Given the description of an element on the screen output the (x, y) to click on. 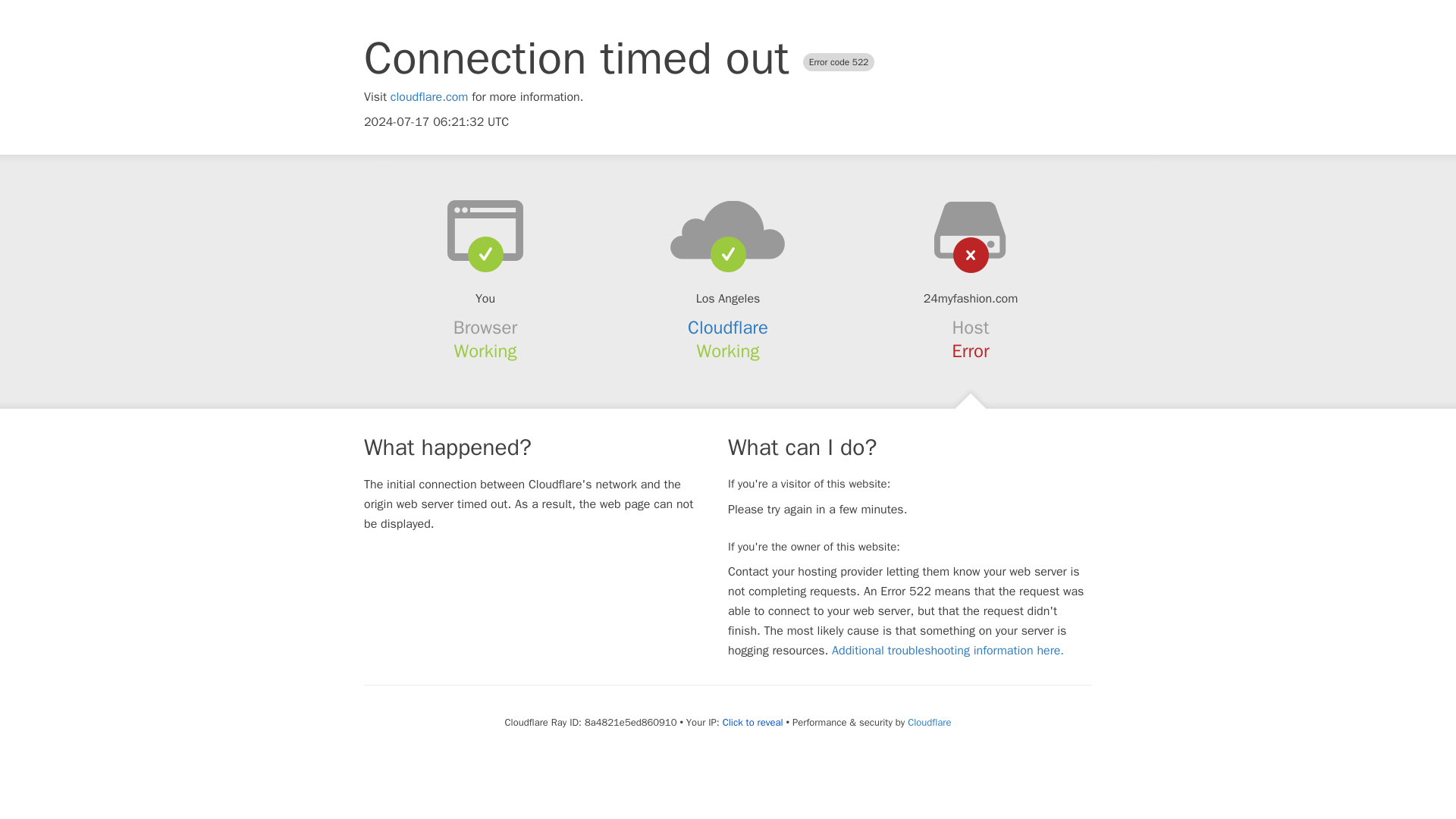
Additional troubleshooting information here. (947, 650)
Cloudflare (928, 721)
cloudflare.com (429, 96)
Click to reveal (752, 722)
Cloudflare (727, 327)
